Given the description of an element on the screen output the (x, y) to click on. 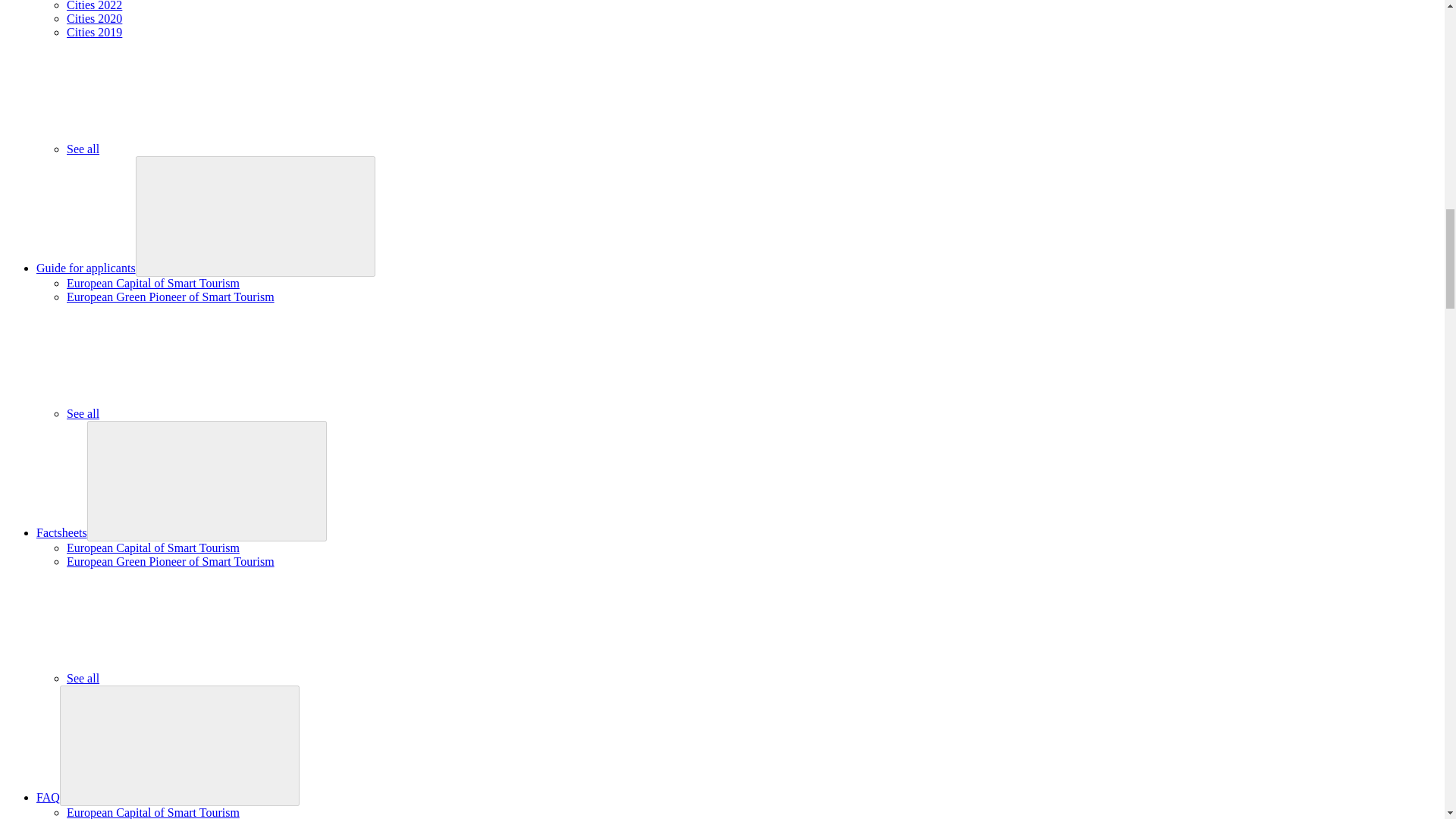
See all (196, 148)
European Capital of Smart Tourism (153, 812)
FAQ (47, 797)
European Capital of Smart Tourism (153, 282)
Cities 2022 (94, 5)
Guide for applicants (85, 267)
European Capital of Smart Tourism (153, 547)
Cities 2020 (94, 18)
Cities 2019 (94, 31)
See all (196, 677)
European Green Pioneer of Smart Tourism (170, 561)
Factsheets (61, 532)
See all (196, 413)
European Green Pioneer of Smart Tourism (170, 296)
